Given the description of an element on the screen output the (x, y) to click on. 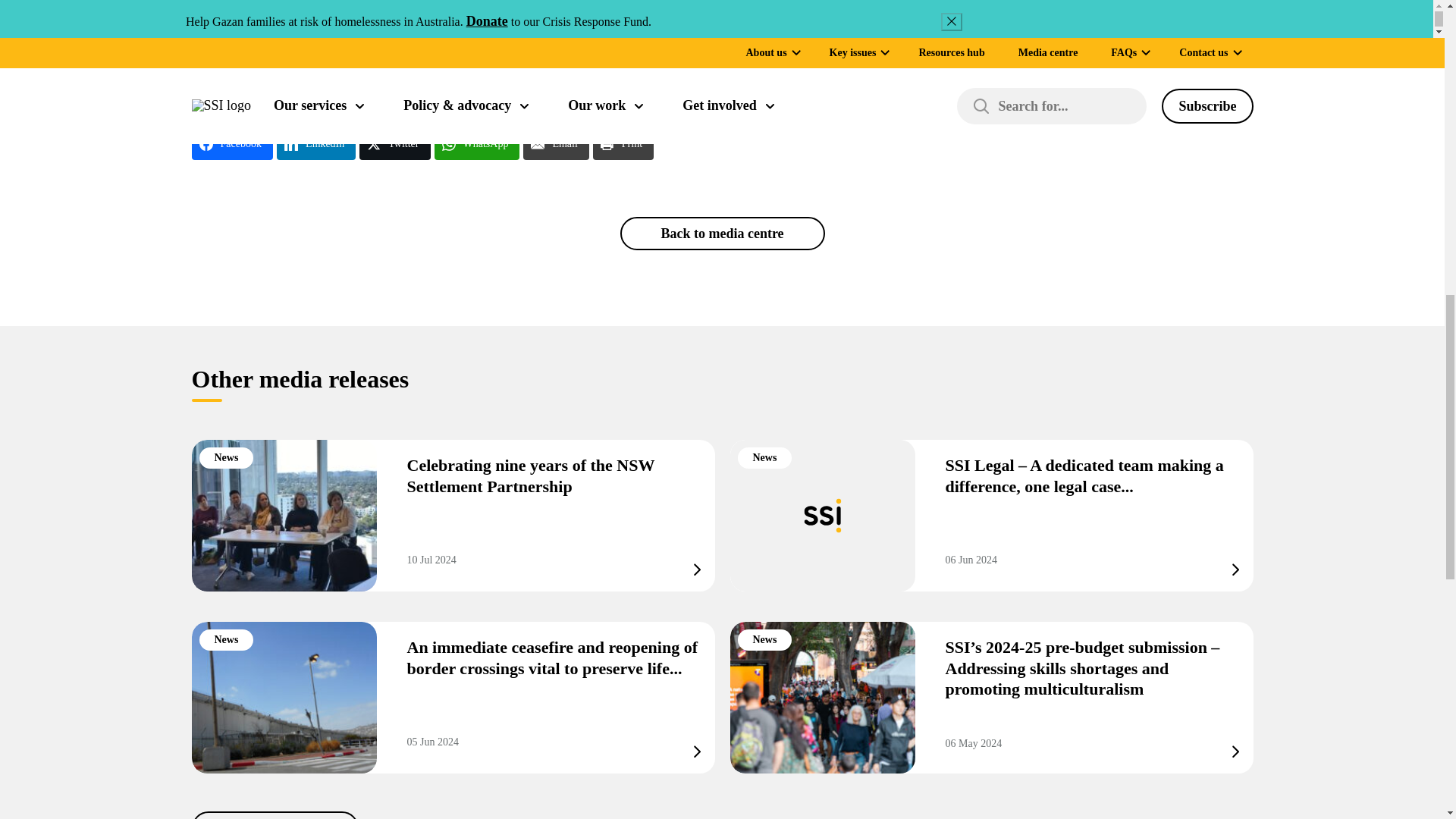
Share on Facebook (231, 143)
Share on WhatsApp (476, 143)
Share on Twitter (394, 143)
Share on LinkedIn (315, 143)
Share on Print (622, 143)
Share on Email (555, 143)
